Given the description of an element on the screen output the (x, y) to click on. 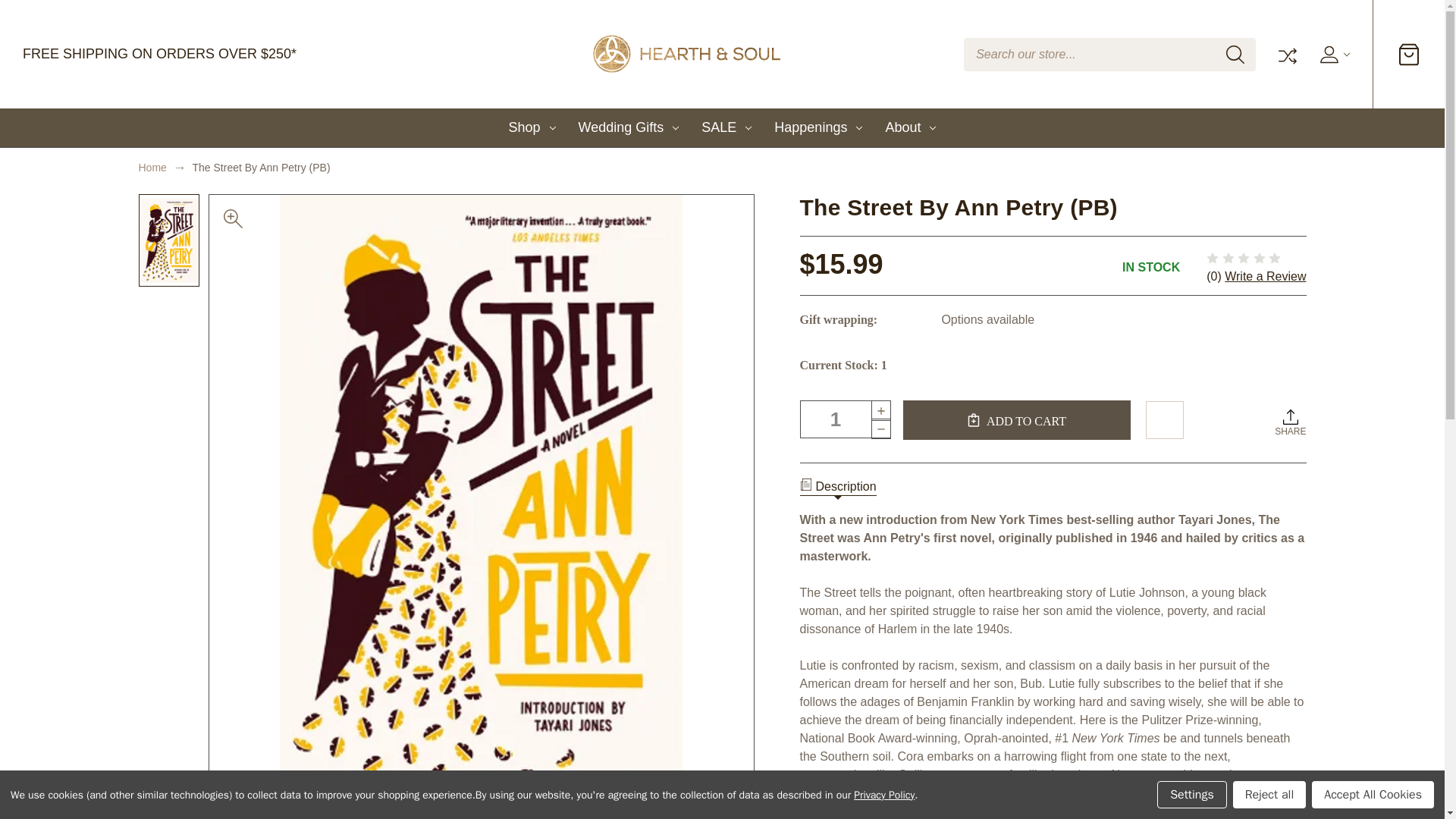
Compare (1286, 54)
1 (844, 419)
USER (1332, 54)
COMPARE (1286, 54)
Shop (532, 127)
SEARCH (1234, 54)
